Given the description of an element on the screen output the (x, y) to click on. 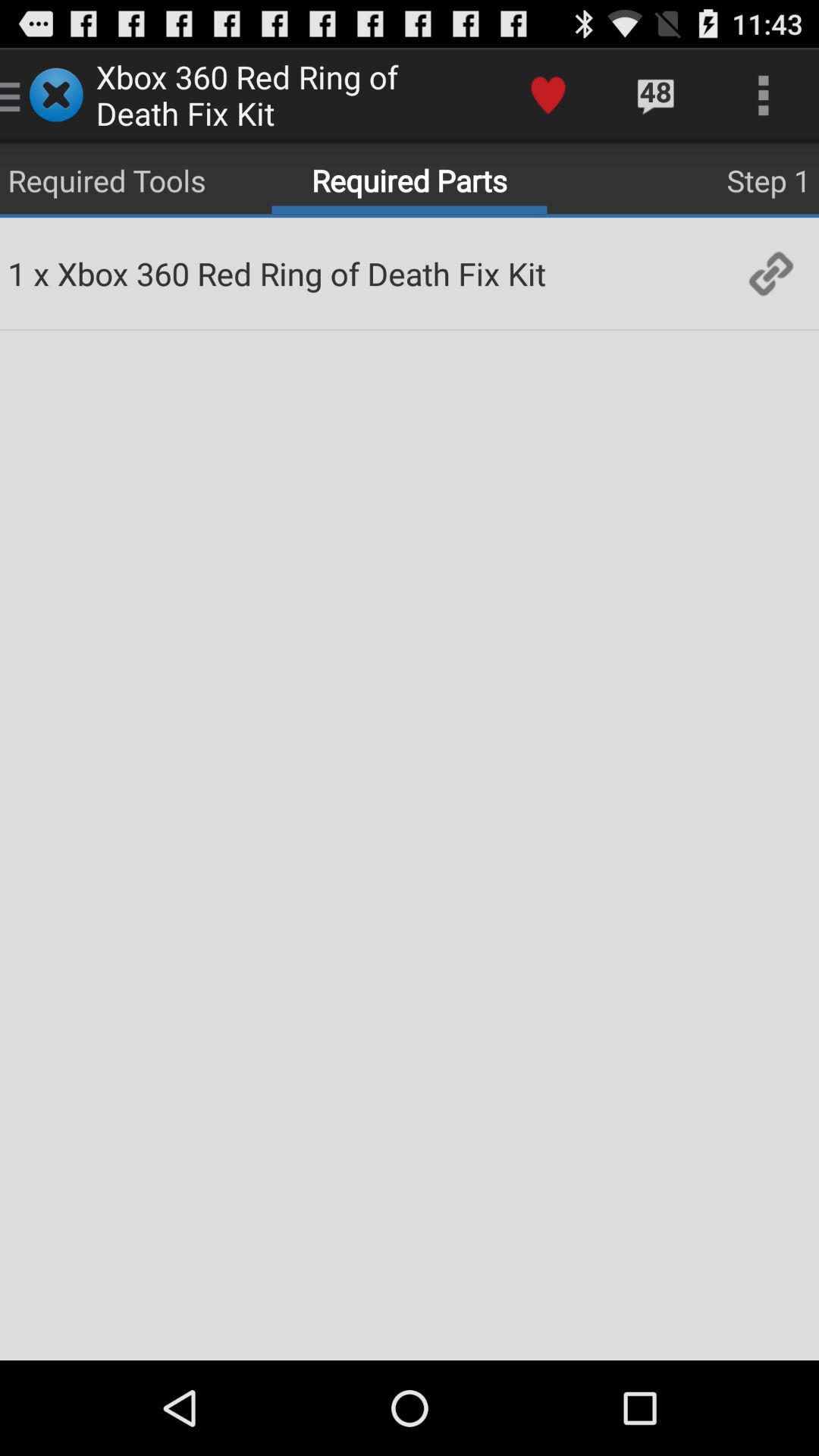
turn off app to the left of the x app (16, 273)
